Given the description of an element on the screen output the (x, y) to click on. 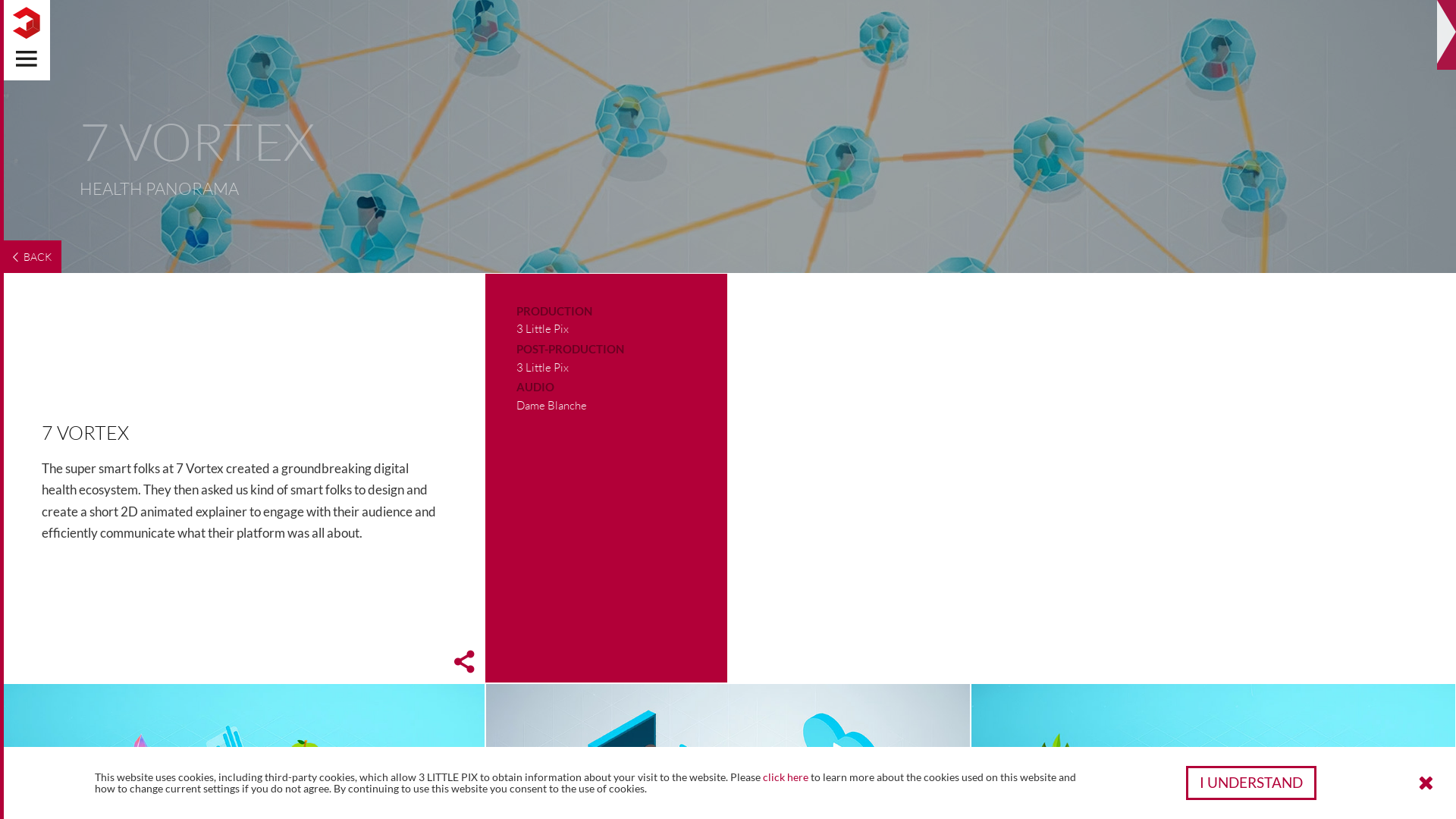
I UNDERSTAND Element type: text (1251, 782)
BACK Element type: text (30, 256)
click here Element type: text (785, 776)
